Given the description of an element on the screen output the (x, y) to click on. 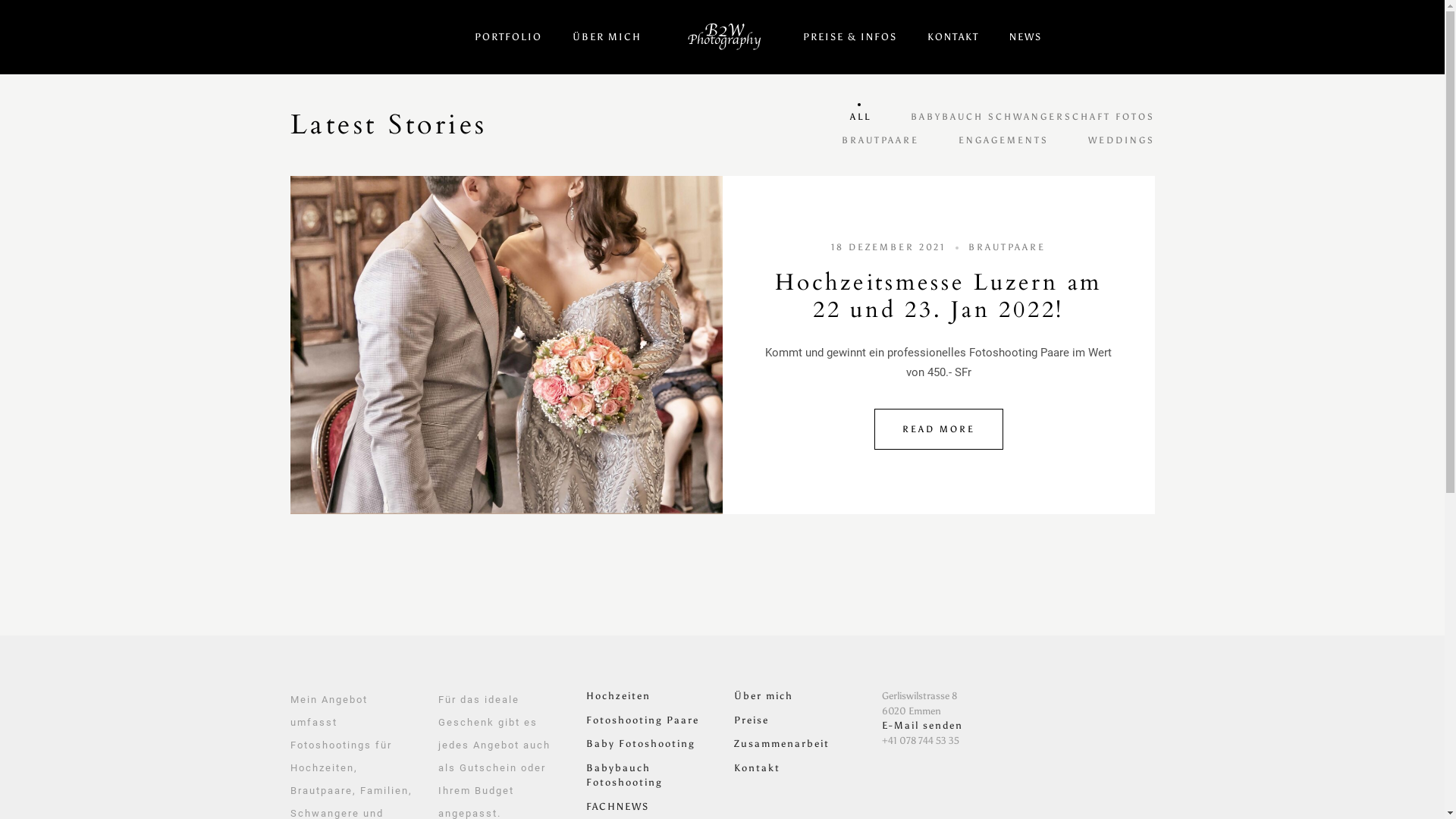
BABYBAUCH SCHWANGERSCHAFT FOTOS Element type: text (1032, 115)
Kontakt Element type: text (757, 766)
ALL Element type: text (859, 115)
Hochzeitsmesse Luzern am 22 und 23. Jan 2022! Element type: text (938, 295)
ENGAGEMENTS Element type: text (1003, 139)
Preise Element type: text (751, 719)
E-Mail senden Element type: text (921, 725)
Hochzeiten Element type: text (617, 695)
PREISE & INFOS Element type: text (850, 36)
BRAUTPAARE Element type: text (880, 139)
Fotoshooting Paare Element type: text (641, 719)
Babybauch Fotoshooting Element type: text (623, 774)
KONTAKT Element type: text (953, 36)
Baby Fotoshooting Element type: text (639, 743)
READ MORE Element type: text (937, 428)
PORTFOLIO Element type: text (508, 36)
WEDDINGS Element type: text (1120, 139)
NEWS Element type: text (1025, 36)
BRAUTPAARE Element type: text (1006, 246)
18 DEZEMBER 2021 Element type: text (888, 246)
Zusammenarbeit Element type: text (781, 743)
FACHNEWS Element type: text (616, 806)
